Given the description of an element on the screen output the (x, y) to click on. 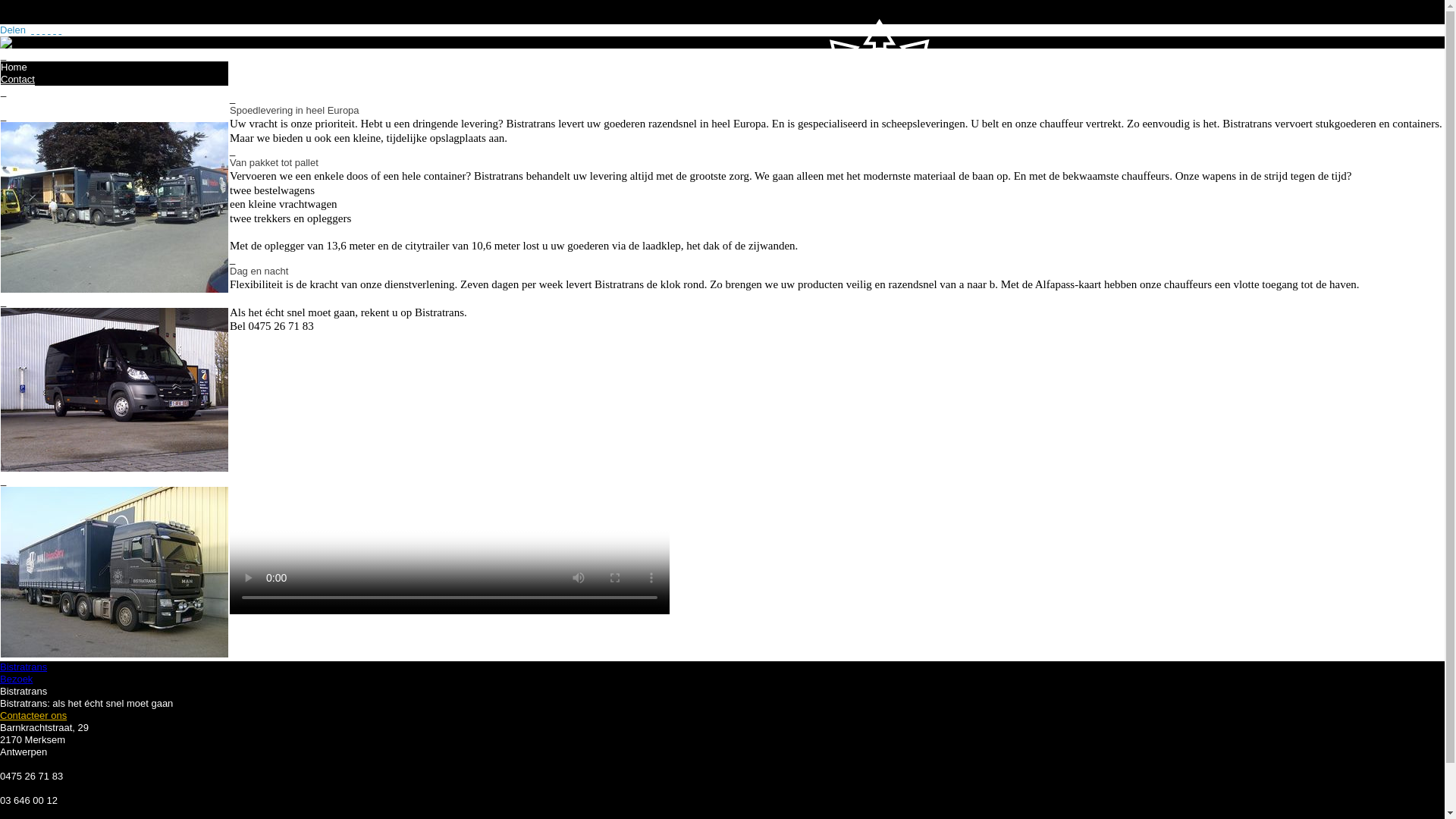
  Element type: text (37, 29)
Digg dit Element type: hover (37, 29)
  Element type: text (59, 29)
Contacteer ons Element type: text (33, 715)
Contact Element type: text (17, 79)
Op twitter posten Element type: hover (48, 29)
Op facebook posten Element type: hover (32, 29)
Bistratrans
Bezoek Element type: text (722, 673)
  Element type: text (43, 29)
  Element type: text (48, 29)
Bistratrans Element type: hover (43, 42)
Op Netlog posten Element type: hover (54, 29)
  Element type: text (54, 29)
  Element type: text (32, 29)
Op LinkedIn posten Element type: hover (59, 29)
Google bladwijzers Element type: hover (43, 29)
